Given the description of an element on the screen output the (x, y) to click on. 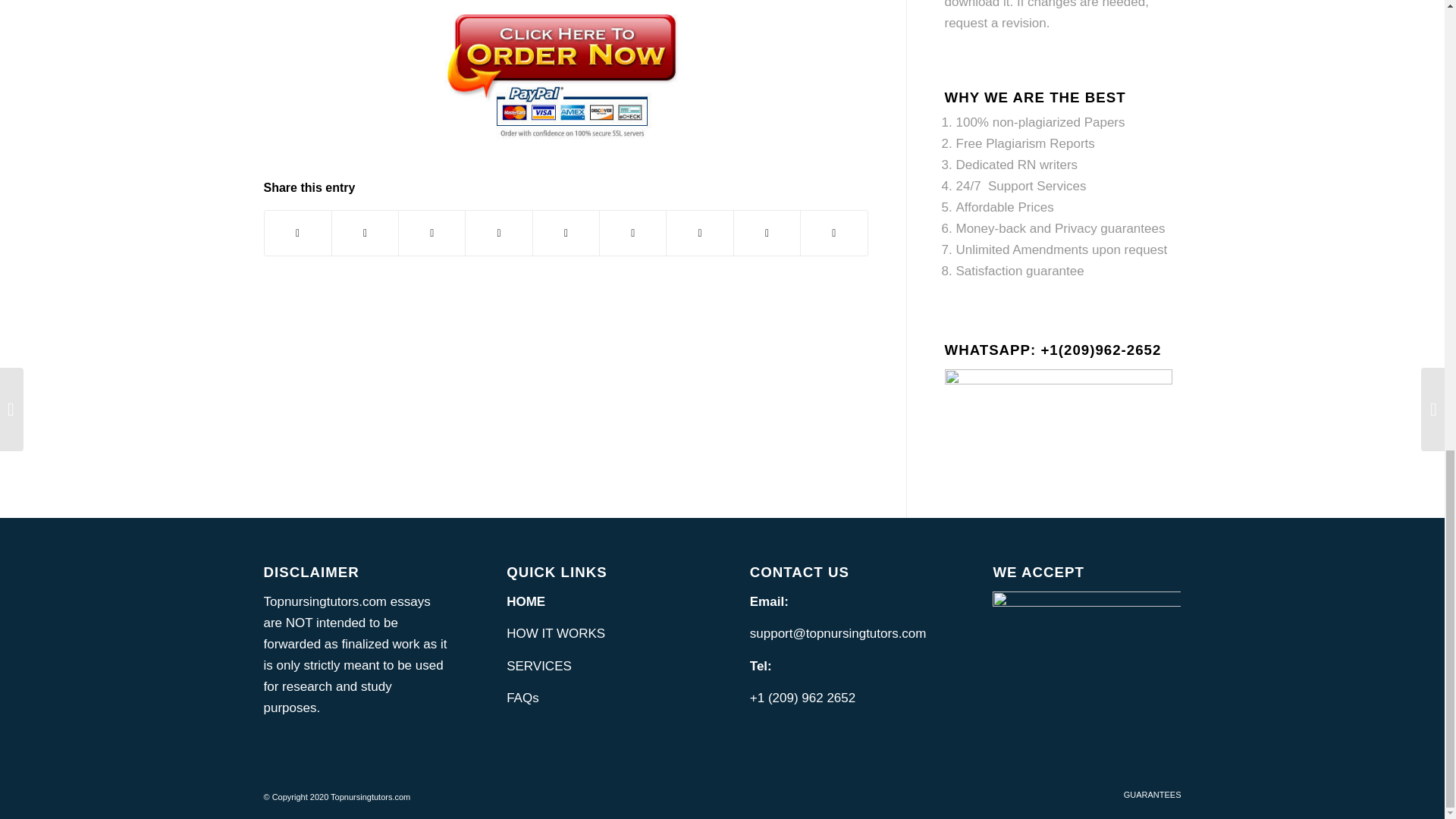
HOW IT WORKS (555, 633)
HOME (525, 601)
FAQs (522, 698)
SERVICES (539, 666)
GUARANTEES (1152, 794)
